Given the description of an element on the screen output the (x, y) to click on. 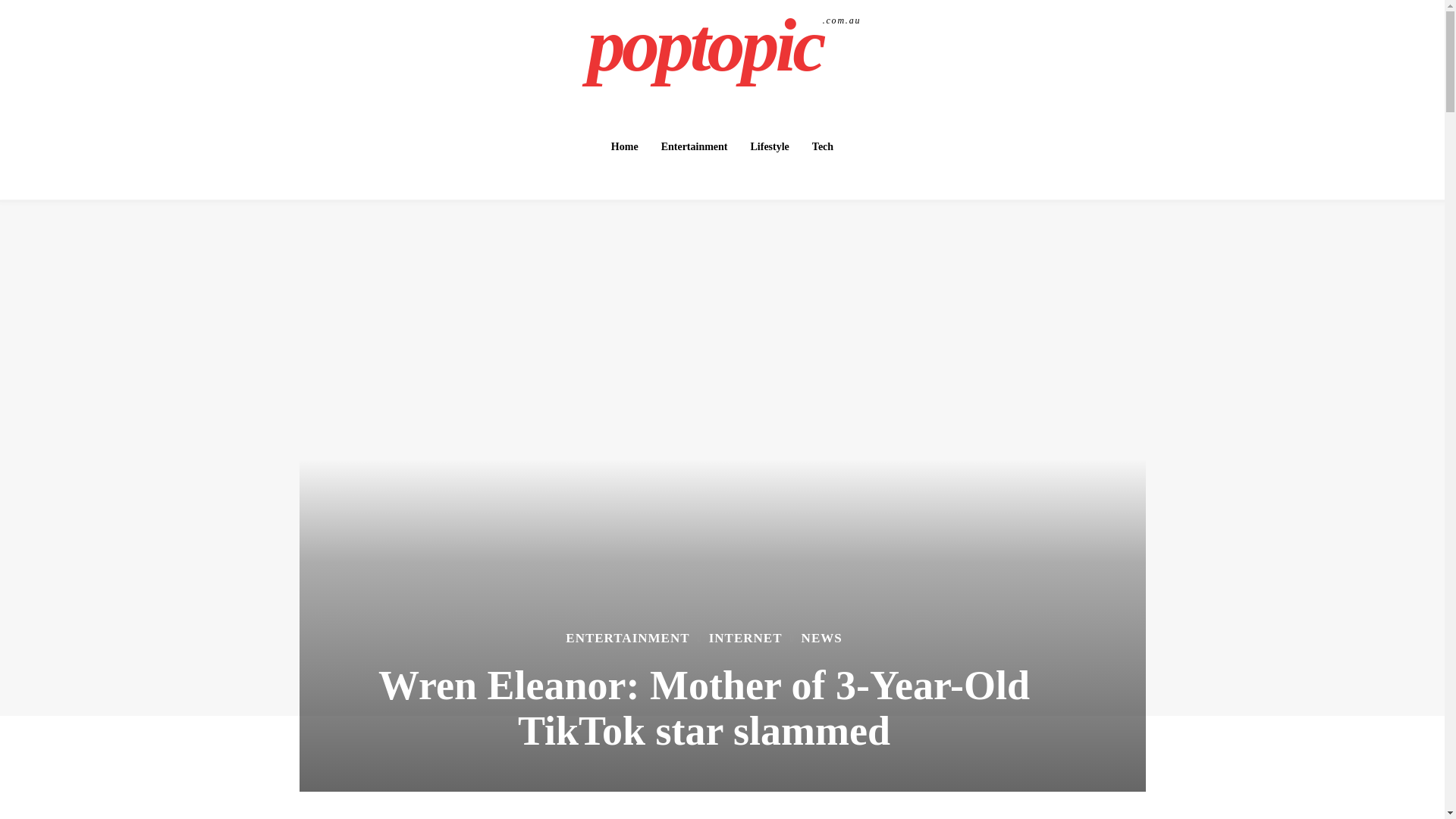
Entertainment (694, 146)
Home (625, 146)
INTERNET (746, 637)
Lifestyle (769, 146)
Tech (823, 146)
NEWS (822, 637)
POPTOPIC (724, 45)
ENTERTAINMENT (724, 45)
